Given the description of an element on the screen output the (x, y) to click on. 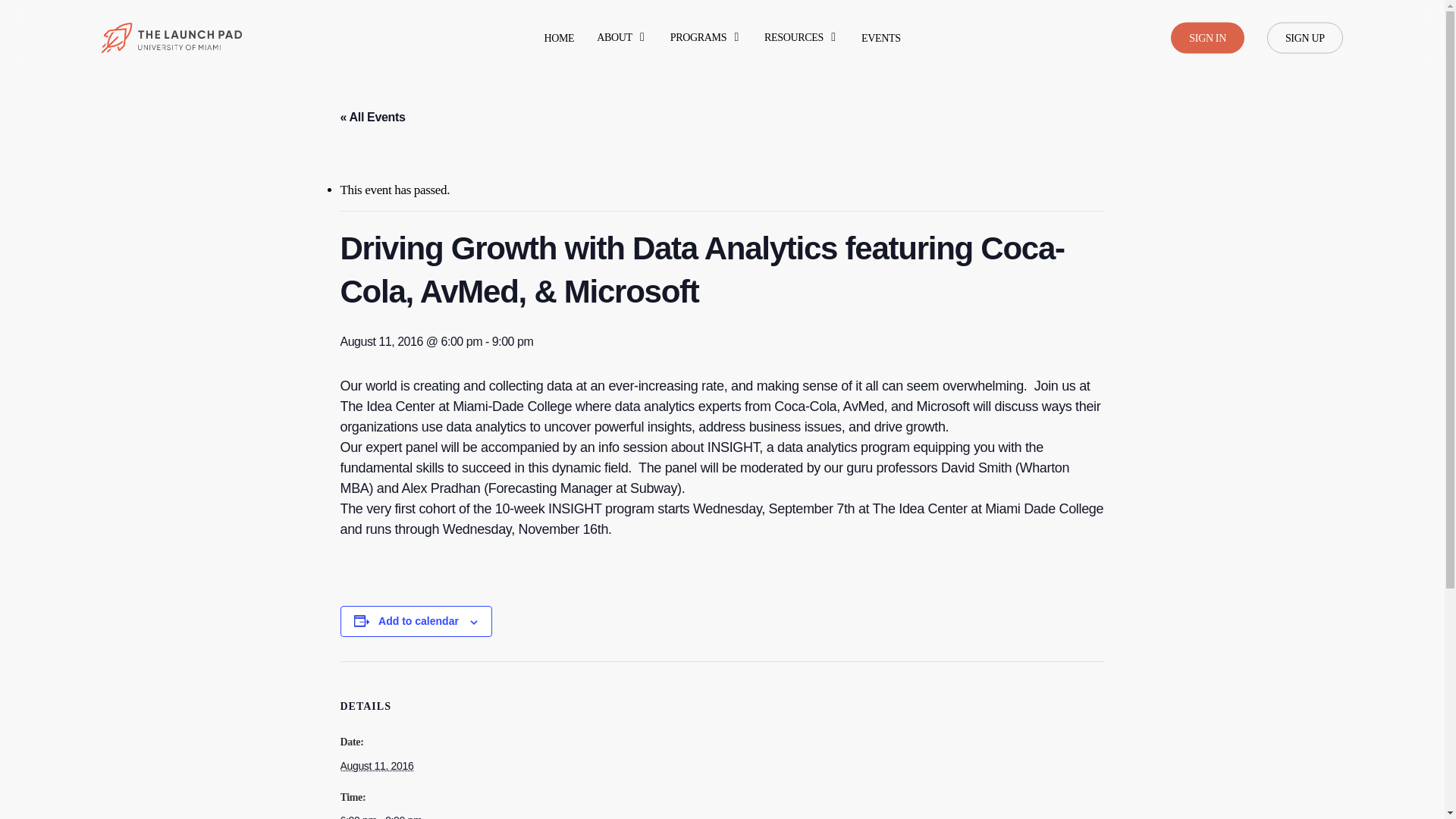
EVENTS (881, 38)
ABOUT (621, 38)
PROGRAMS (705, 38)
2016-08-11 (376, 766)
SIGN UP (1304, 38)
2016-08-11 (403, 814)
RESOURCES (801, 38)
SIGN IN (1207, 38)
Add to calendar (418, 621)
HOME (558, 38)
